Given the description of an element on the screen output the (x, y) to click on. 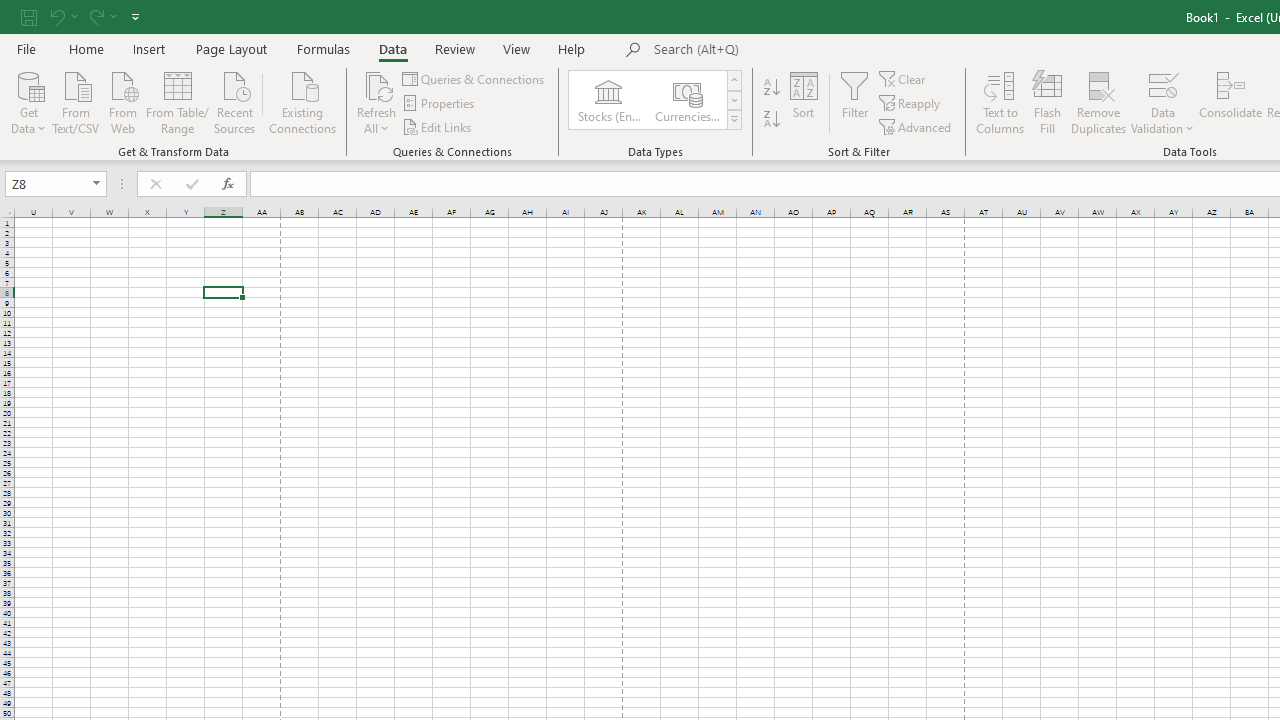
Microsoft search (792, 49)
Sort... (804, 102)
Flash Fill (1047, 102)
Review (454, 48)
Recent Sources (235, 101)
Data Types (734, 120)
Row up (734, 79)
